Given the description of an element on the screen output the (x, y) to click on. 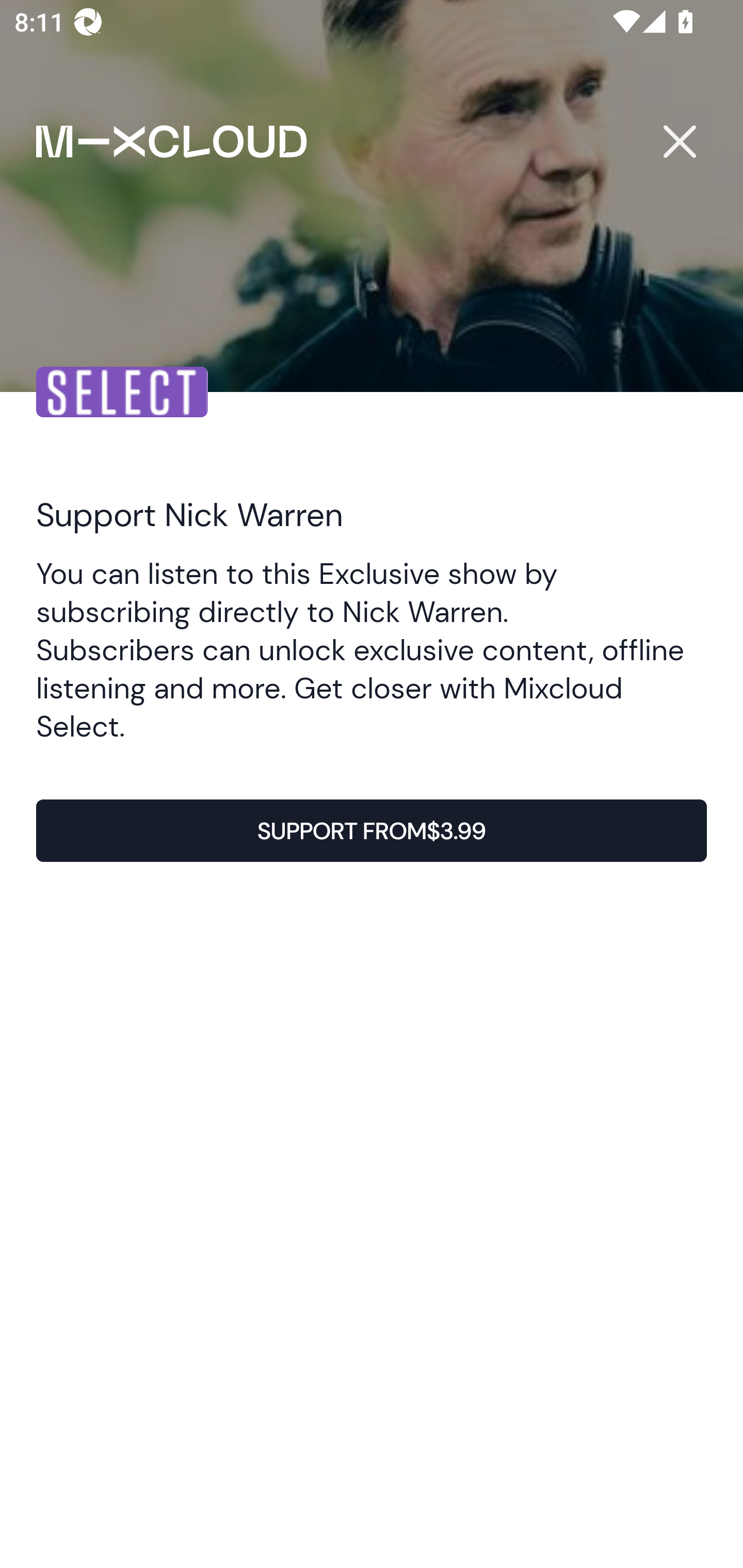
Close popup button (679, 141)
SUPPORT FROM$3.99 (371, 830)
